Given the description of an element on the screen output the (x, y) to click on. 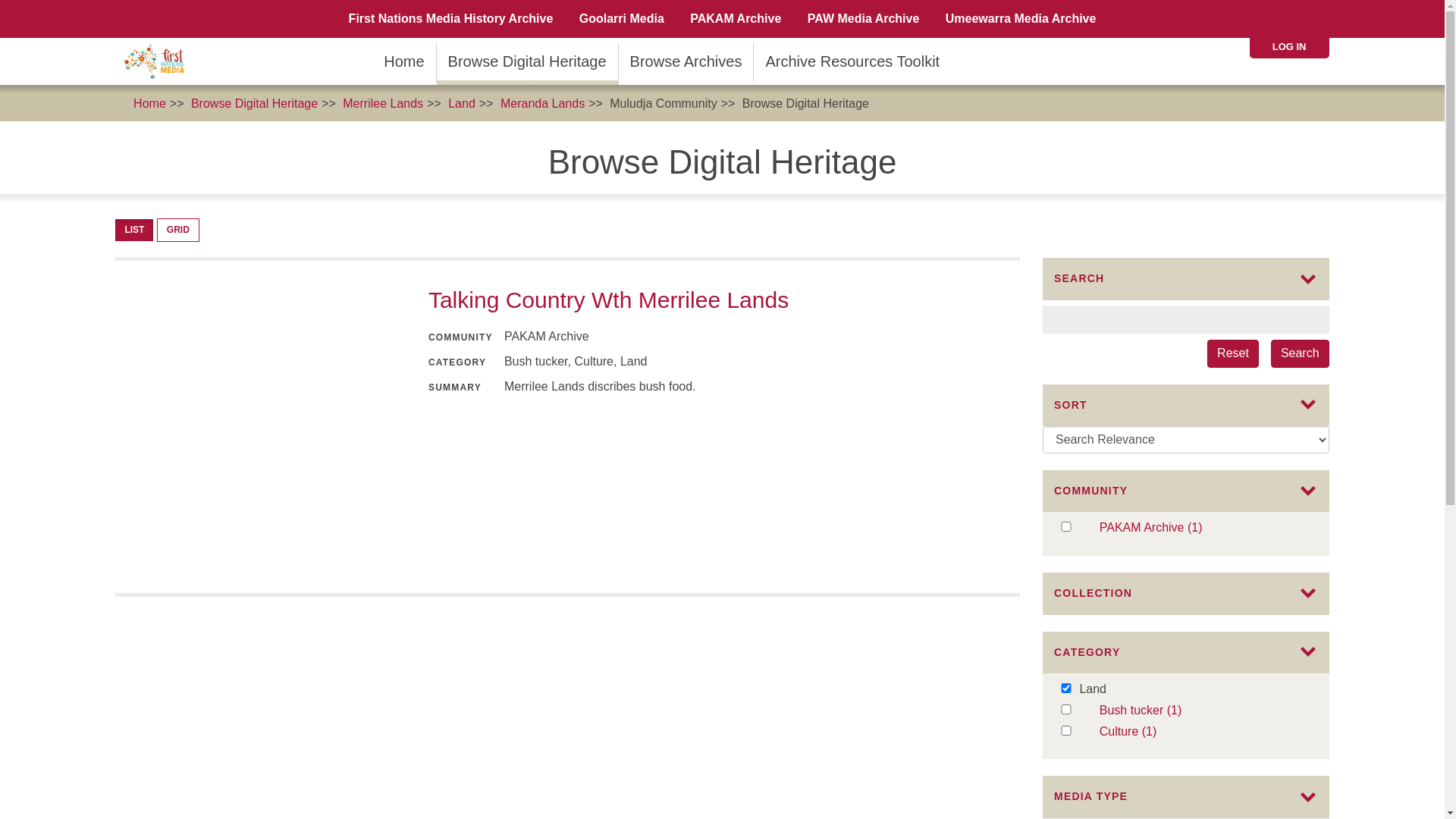
Merrilee Lands Element type: text (382, 103)
Browse Archives Element type: text (685, 61)
GRID Element type: text (177, 229)
Browse Digital Heritage Element type: text (805, 103)
MEDIA TYPE Element type: text (1185, 796)
PAKAM Archive Element type: text (735, 18)
CATEGORY Element type: text (1185, 652)
LIST Element type: text (134, 230)
Browse Digital Heritage Element type: text (254, 103)
Bush tucker (1)
Apply Bush tucker filter Element type: text (1203, 710)
Meranda Lands Element type: text (542, 103)
Home Element type: text (149, 103)
Archive Resources Toolkit Element type: text (851, 61)
Home Element type: text (403, 61)
Talking Country Wth Merrilee Lands Element type: text (608, 299)
Land Element type: text (461, 103)
PAW Media Archive Element type: text (863, 18)
COMMUNITY Element type: text (1185, 490)
Goolarri Media Element type: text (621, 18)
First Nations Media History Archive Element type: text (450, 18)
Culture (1)
Apply Culture filter Element type: text (1203, 731)
Search Element type: text (1299, 353)
Umeewarra Media Archive Element type: text (1020, 18)
COLLECTION Element type: text (1185, 593)
Talking Country With Merrilee Land Element type: hover (258, 426)
LOG IN Element type: text (1289, 46)
Browse Digital Heritage Element type: text (527, 61)
Reset Element type: text (1232, 353)
Skip to main content Element type: text (0, 0)
PAKAM Archive (1)
Apply PAKAM Archive filter Element type: text (1203, 527)
Home Element type: hover (158, 61)
